Given the description of an element on the screen output the (x, y) to click on. 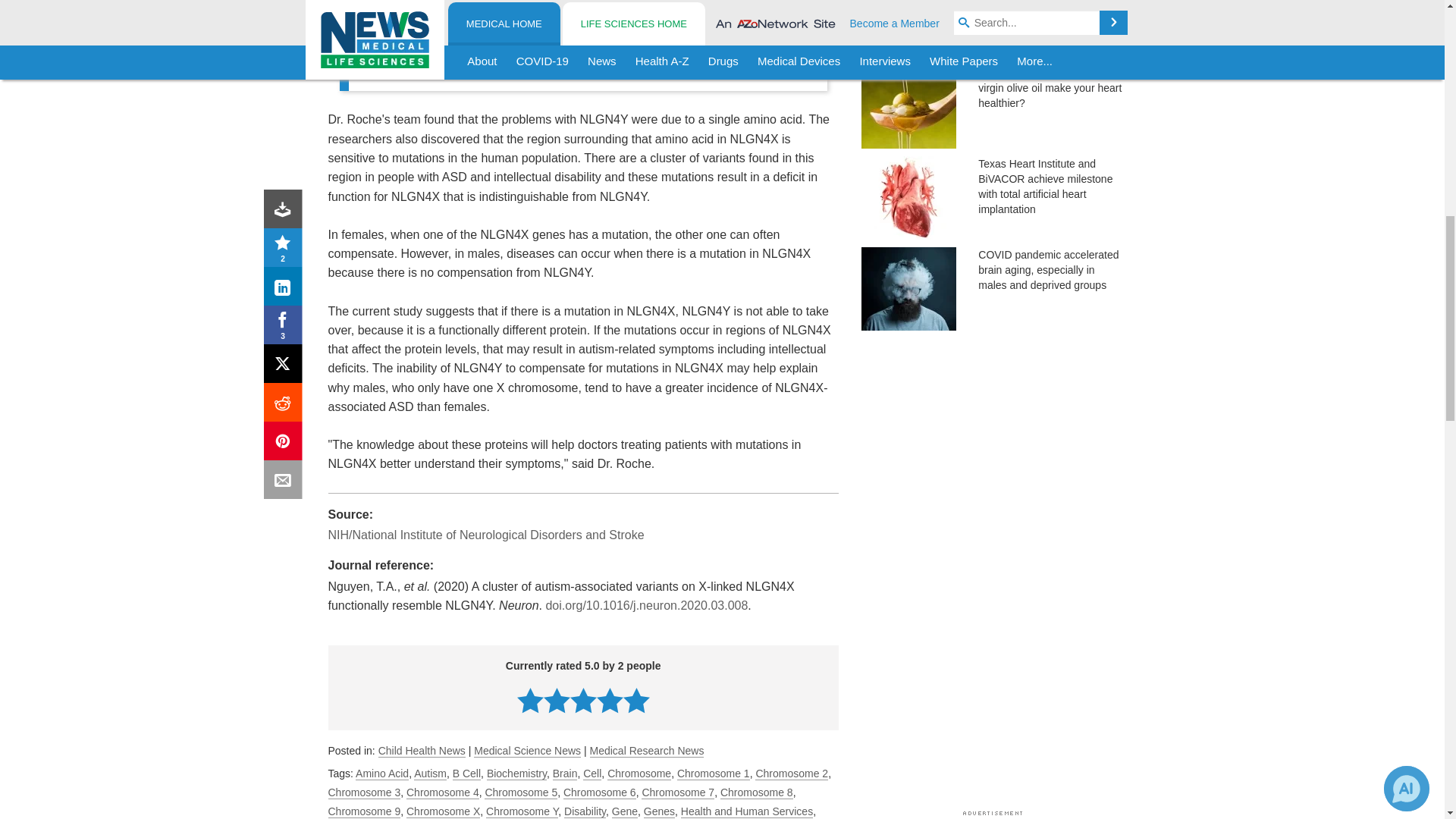
Rate this 5 stars out of 5 (636, 700)
